Given the description of an element on the screen output the (x, y) to click on. 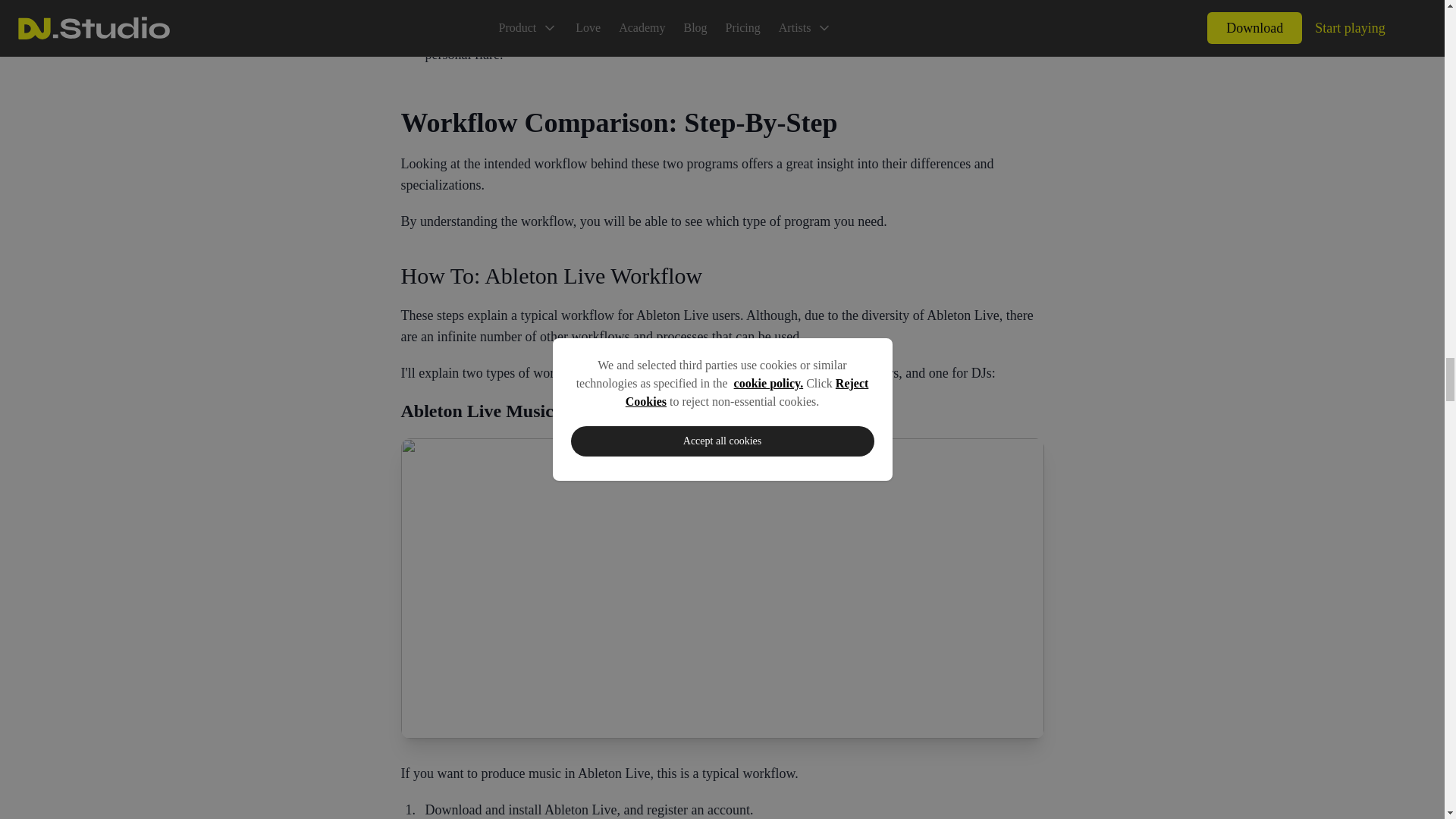
How To: Ableton Live Workflow (721, 275)
Workflow Comparison: Step-By-Step (721, 122)
Ableton Live Music Production Workflow: (721, 410)
